Given the description of an element on the screen output the (x, y) to click on. 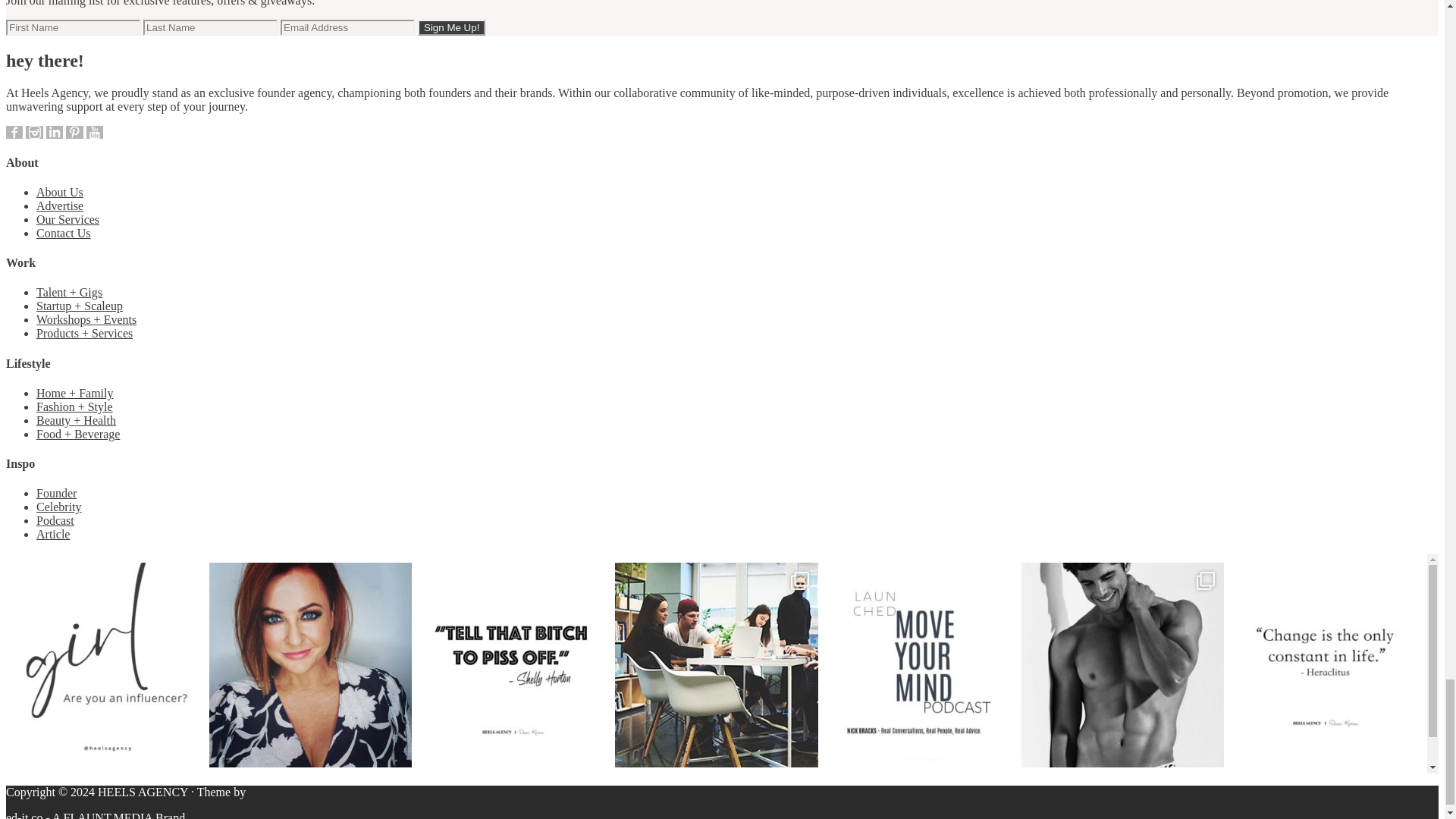
Facebook (14, 132)
Instagram (34, 132)
Sign Me Up! (450, 27)
